Given the description of an element on the screen output the (x, y) to click on. 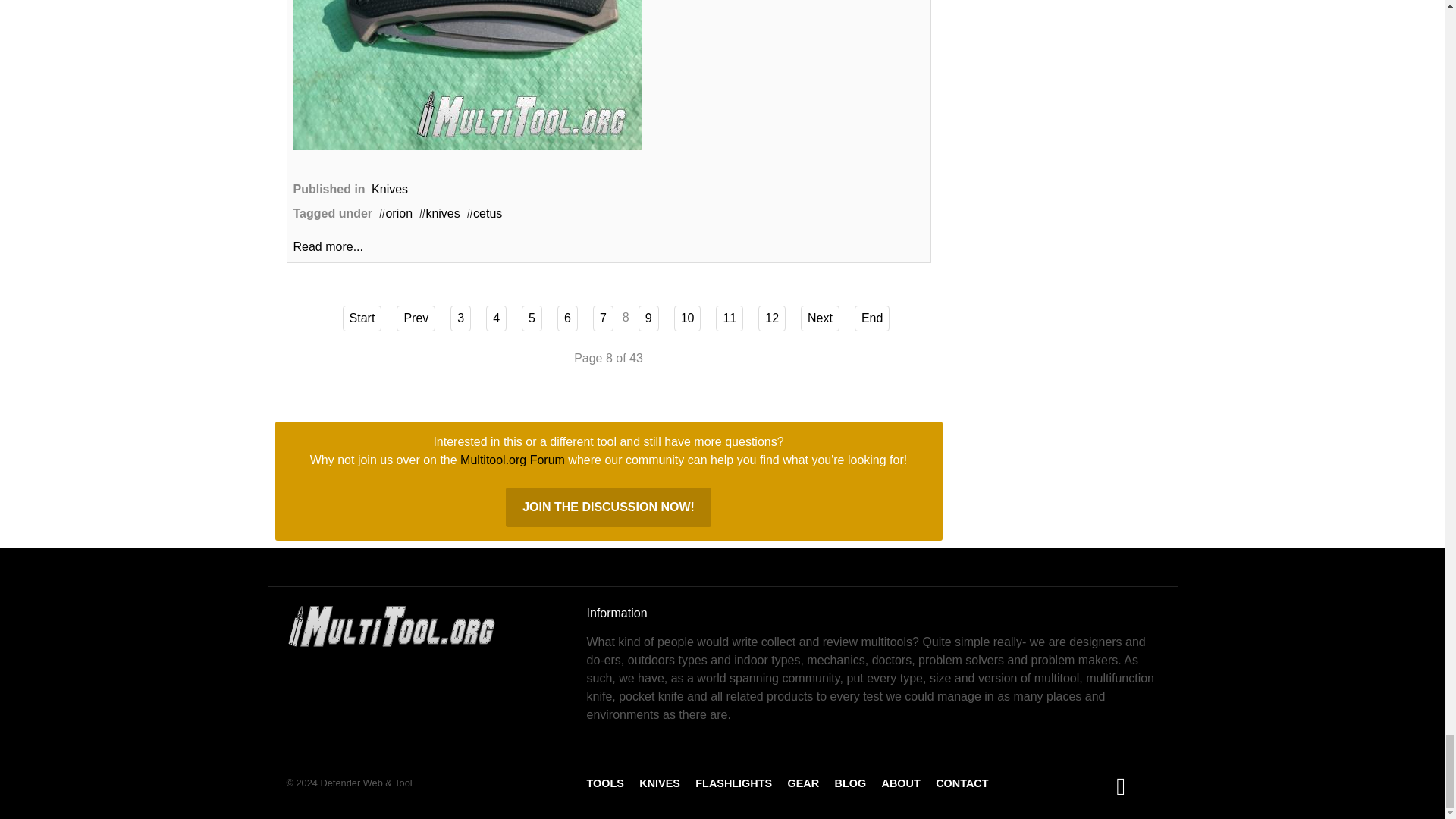
Knives (659, 783)
Flashlights (733, 783)
Tools (605, 783)
